Given the description of an element on the screen output the (x, y) to click on. 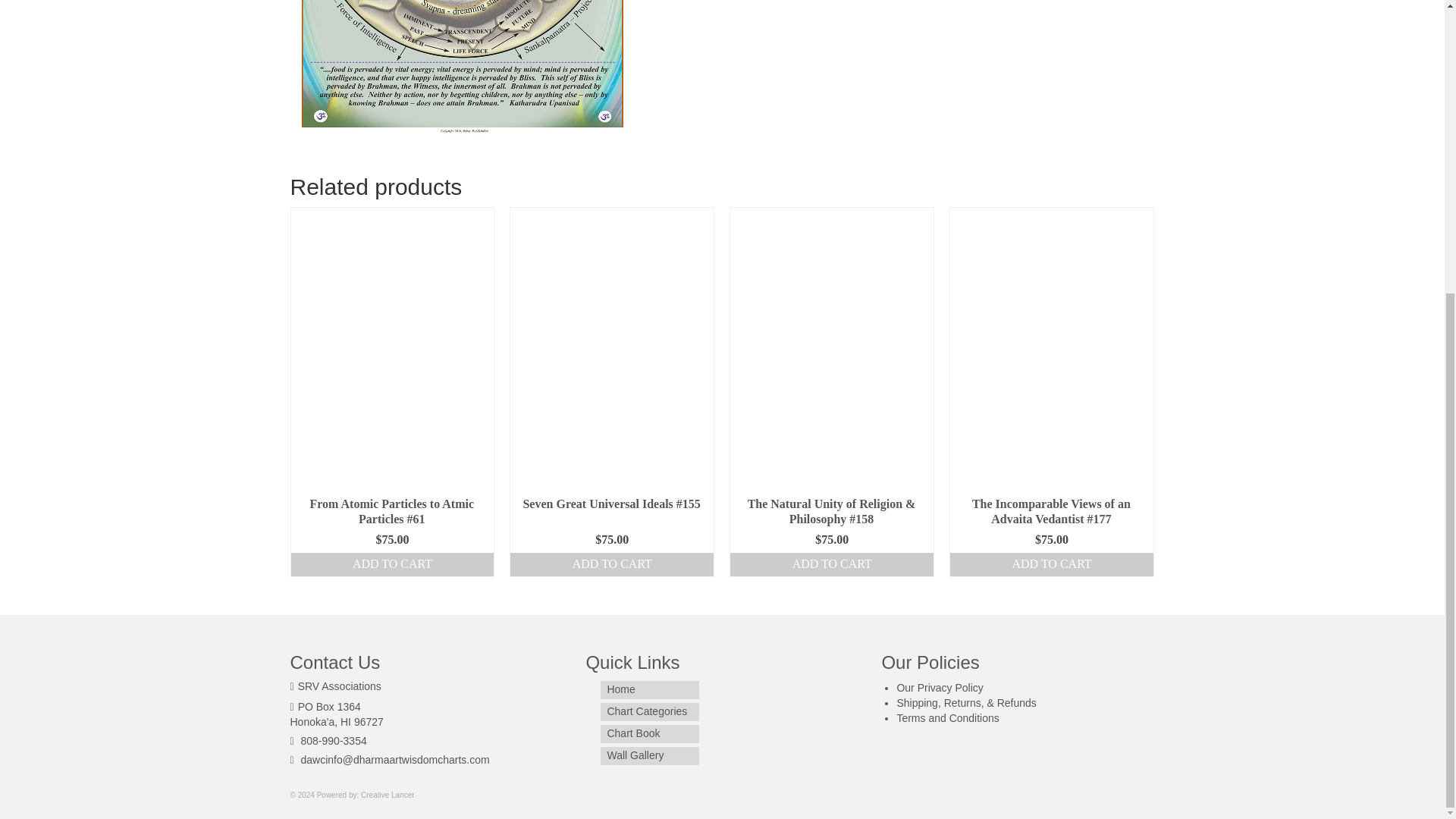
Wall Gallery (648, 755)
Home (648, 689)
Chart Categories (648, 711)
ADD TO CART (1051, 564)
ADD TO CART (612, 564)
Chart Book (648, 733)
Terms and Conditions (947, 717)
Our Privacy Policy (939, 687)
ADD TO CART (393, 564)
ADD TO CART (831, 564)
